Given the description of an element on the screen output the (x, y) to click on. 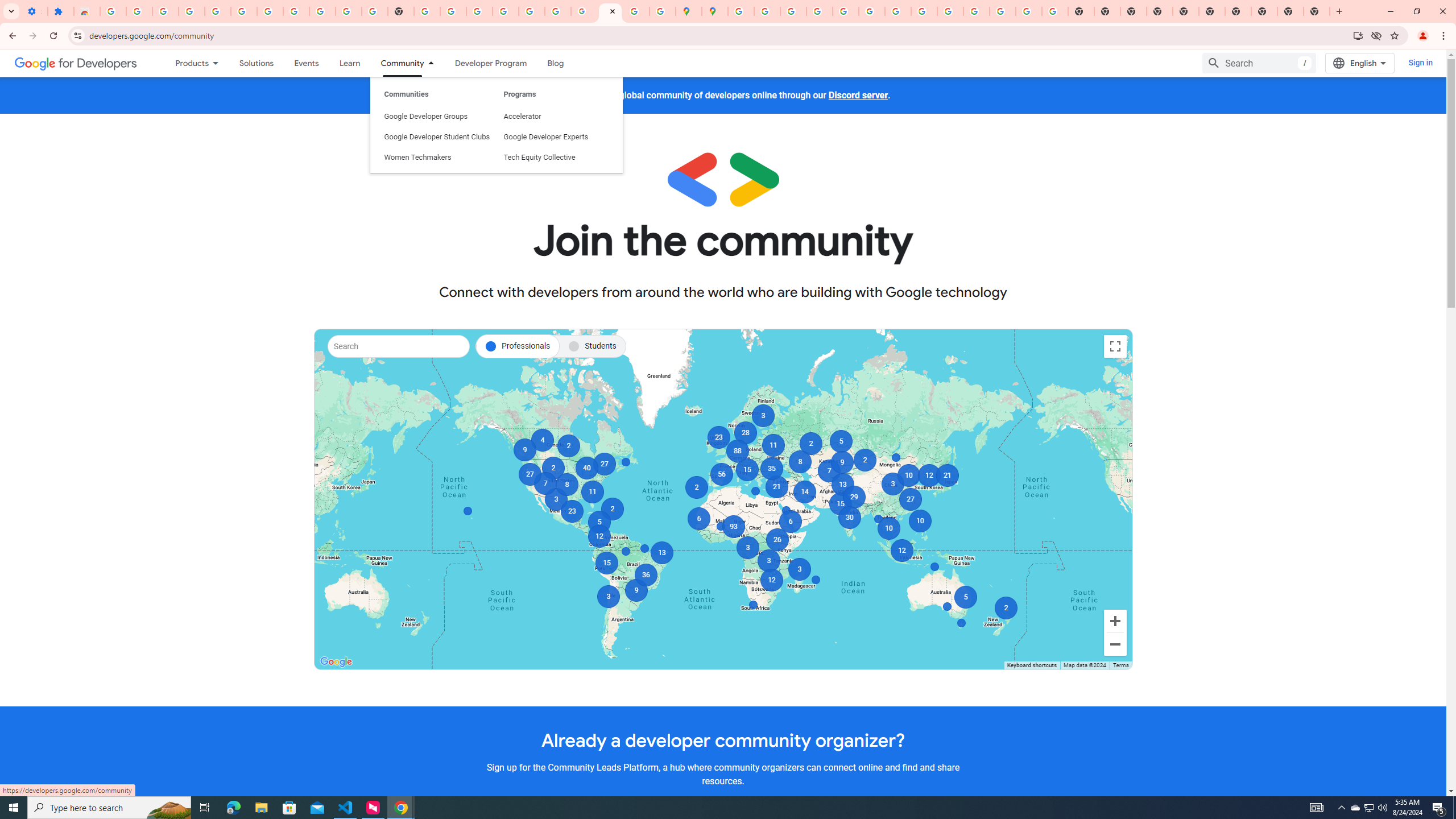
Sign in - Google Accounts (740, 11)
Community, selected (396, 62)
Browse Chrome as a guest - Computer - Google Chrome Help (923, 11)
3 (746, 547)
56 (721, 473)
Solutions (255, 62)
https://scholar.google.com/ (427, 11)
Sign in - Google Accounts (505, 11)
26 (777, 539)
Toggle fullscreen view (1114, 345)
28 (745, 432)
